Given the description of an element on the screen output the (x, y) to click on. 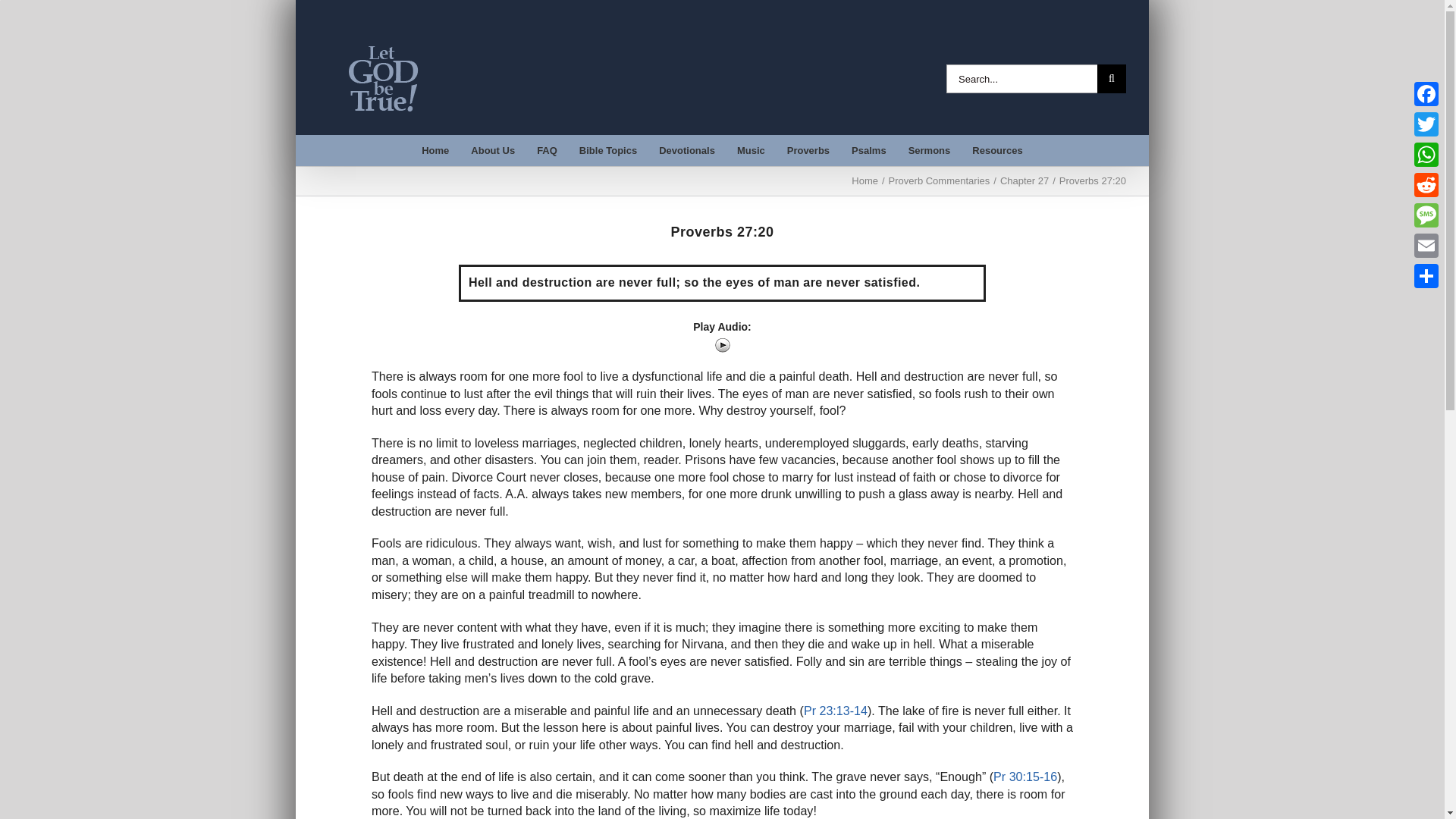
FAQ (547, 150)
Home (435, 150)
Bible Topics (607, 150)
Email (1425, 245)
Music (750, 150)
Message (1425, 214)
Reddit (1425, 184)
About Us (492, 150)
WhatsApp (1425, 154)
Proverbs (808, 150)
Facebook (1425, 93)
Psalms (869, 150)
Twitter (1425, 123)
Devotionals (686, 150)
